Given the description of an element on the screen output the (x, y) to click on. 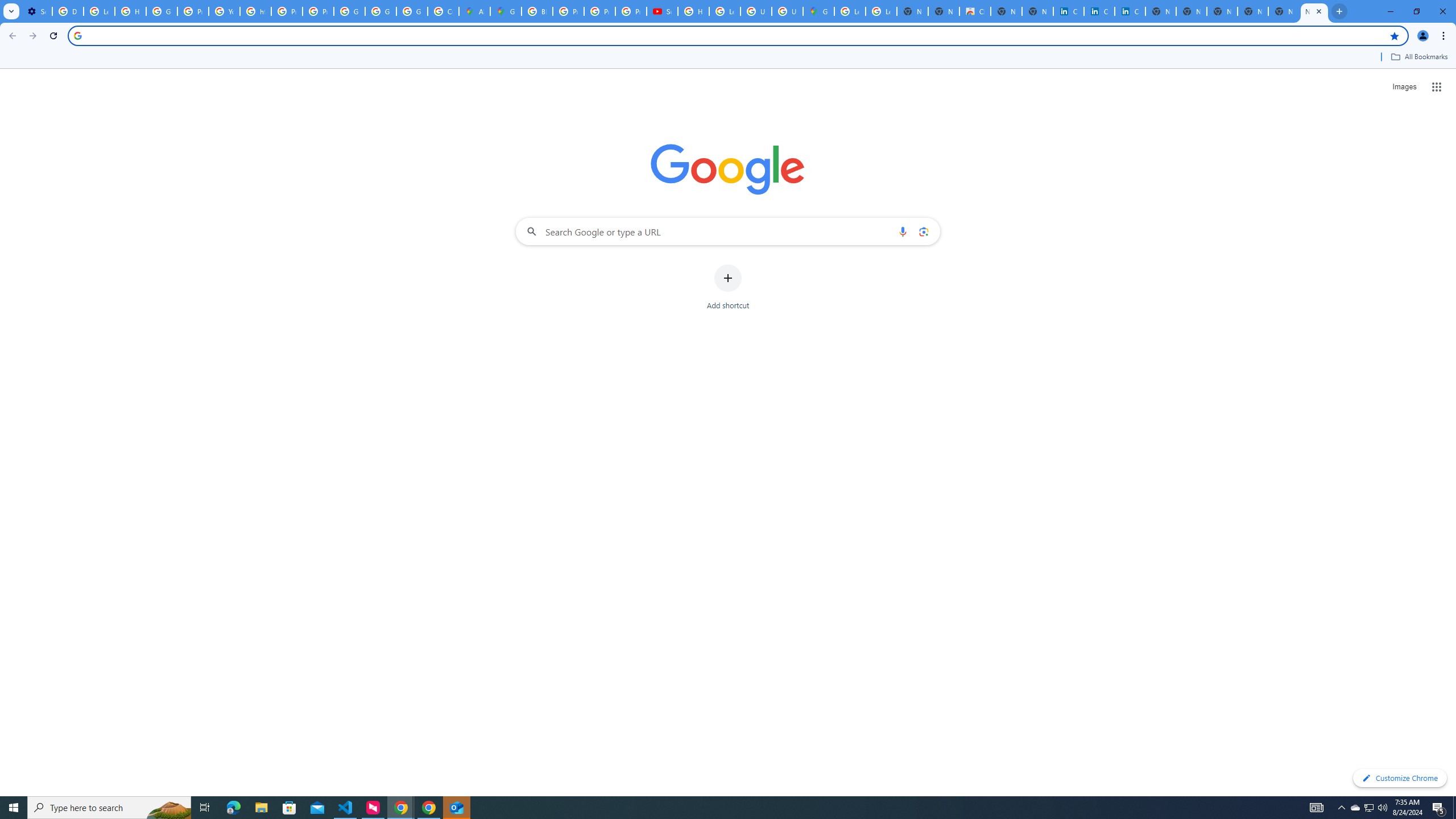
Delete photos & videos - Computer - Google Photos Help (67, 11)
Google Maps (505, 11)
Learn how to find your photos - Google Photos Help (98, 11)
New Tab (1314, 11)
How Chrome protects your passwords - Google Chrome Help (693, 11)
